Given the description of an element on the screen output the (x, y) to click on. 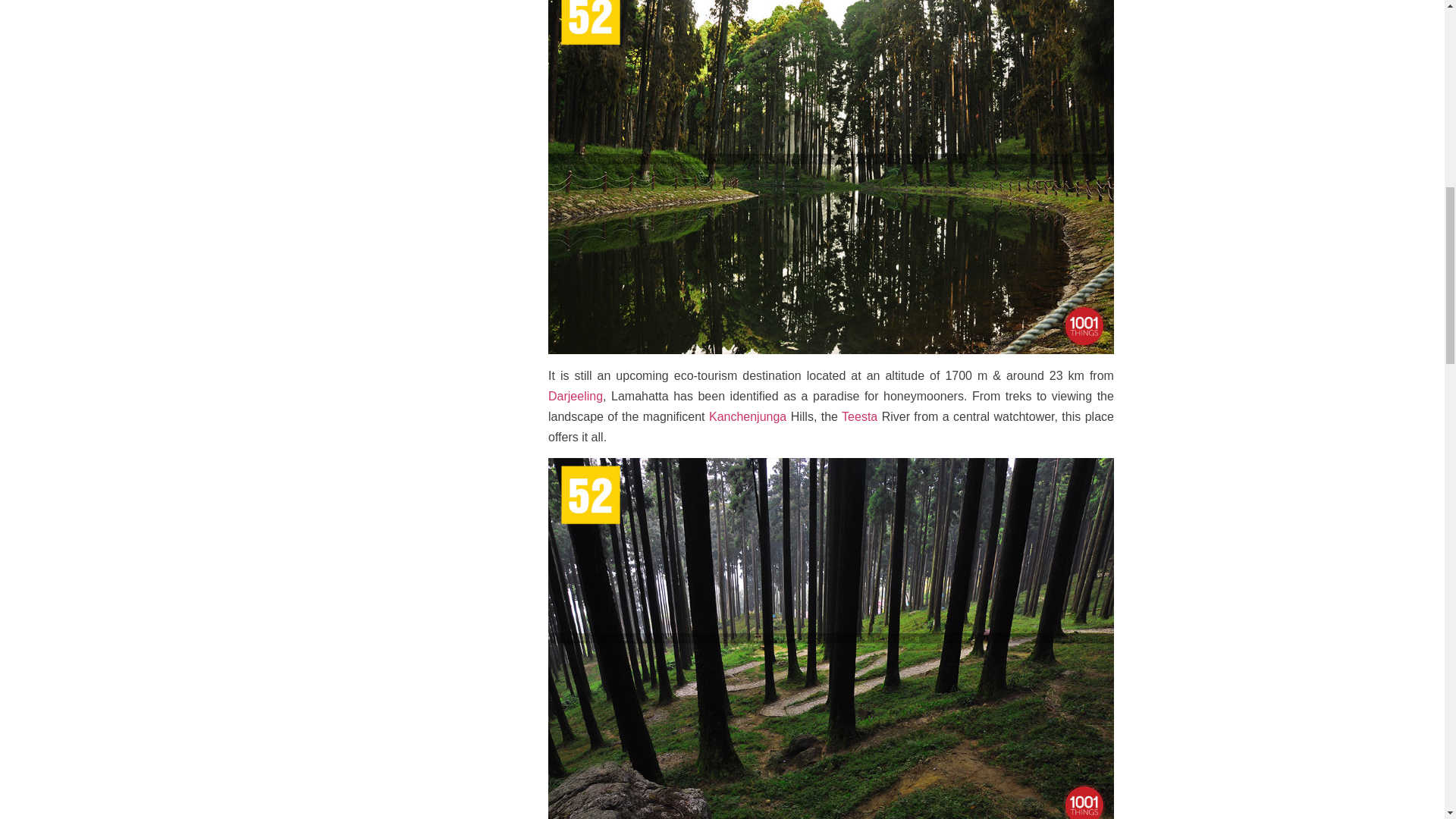
Kanchenjunga (747, 416)
Darjeeling (575, 395)
Teesta (859, 416)
